Given the description of an element on the screen output the (x, y) to click on. 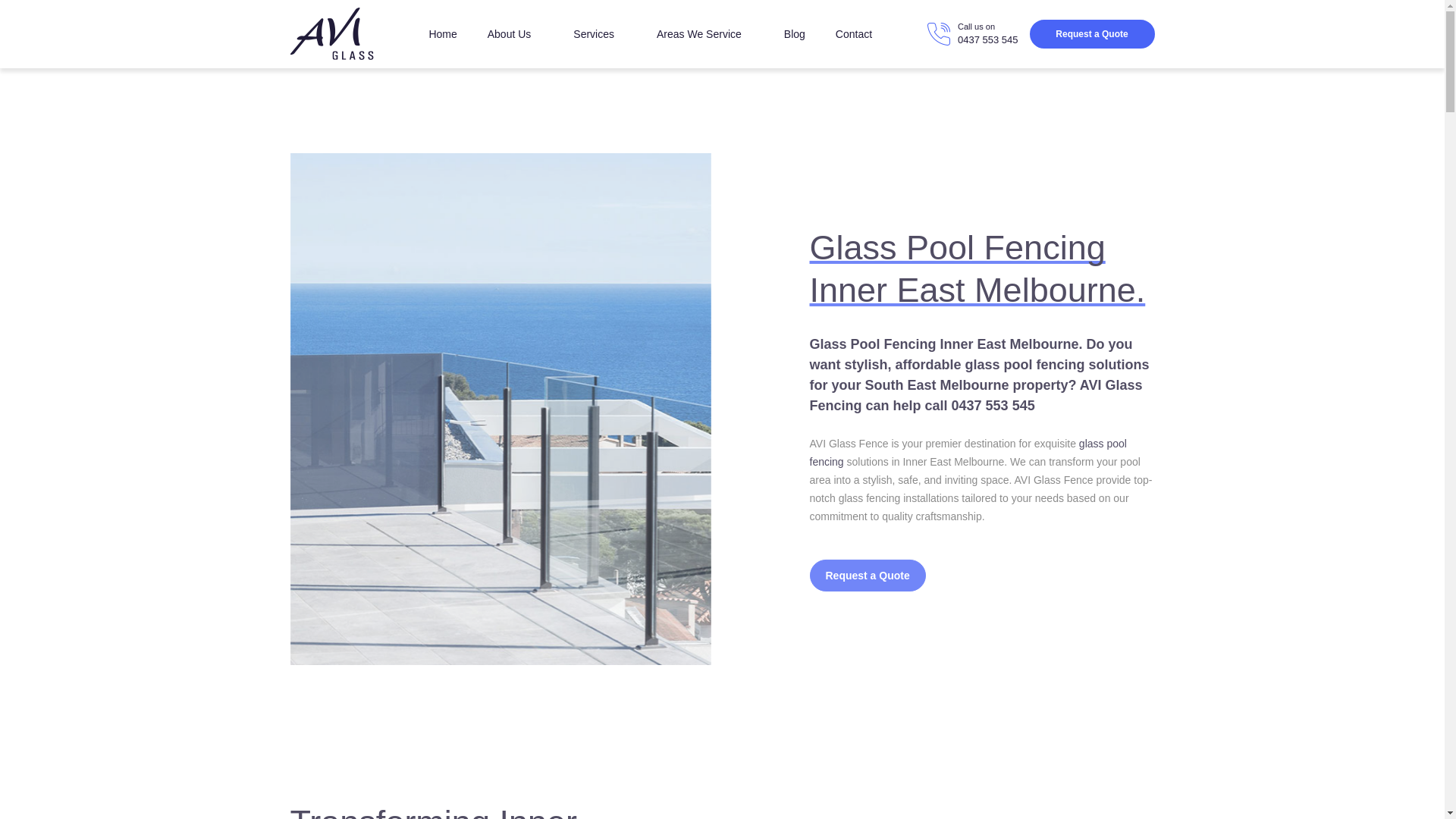
Contact (853, 33)
About Us (515, 33)
Areas We Service (705, 33)
Request a Quote (1091, 33)
Home (442, 33)
Services (599, 33)
